Given the description of an element on the screen output the (x, y) to click on. 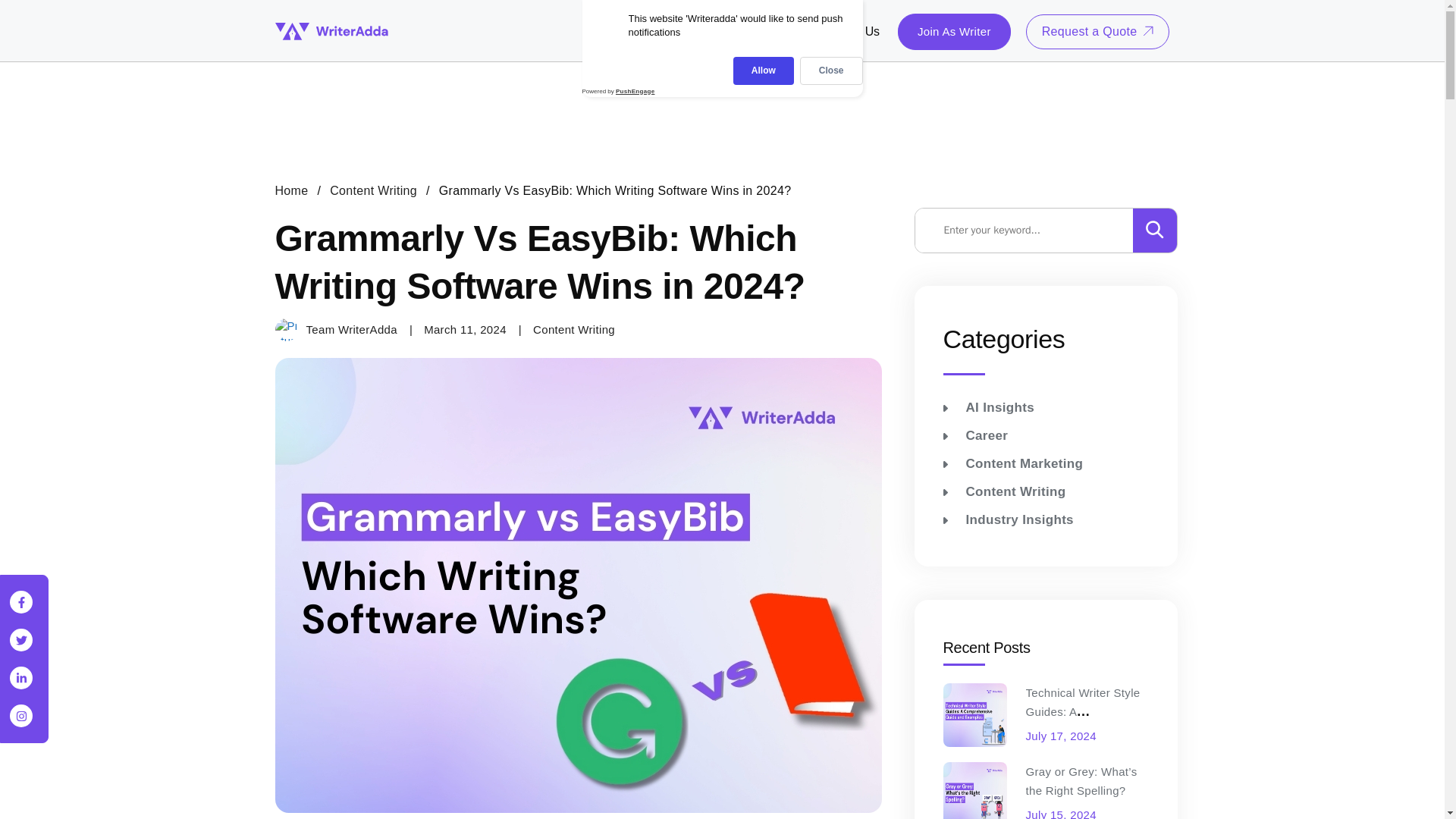
Content Writing (373, 189)
Content Writing (573, 329)
Services (667, 31)
Request a Quote (1098, 30)
Join As Writer (954, 31)
Blog (791, 31)
About Us (737, 31)
Home (291, 189)
Contact Us (850, 31)
Team WriterAdda (335, 329)
Search (1033, 230)
